Given the description of an element on the screen output the (x, y) to click on. 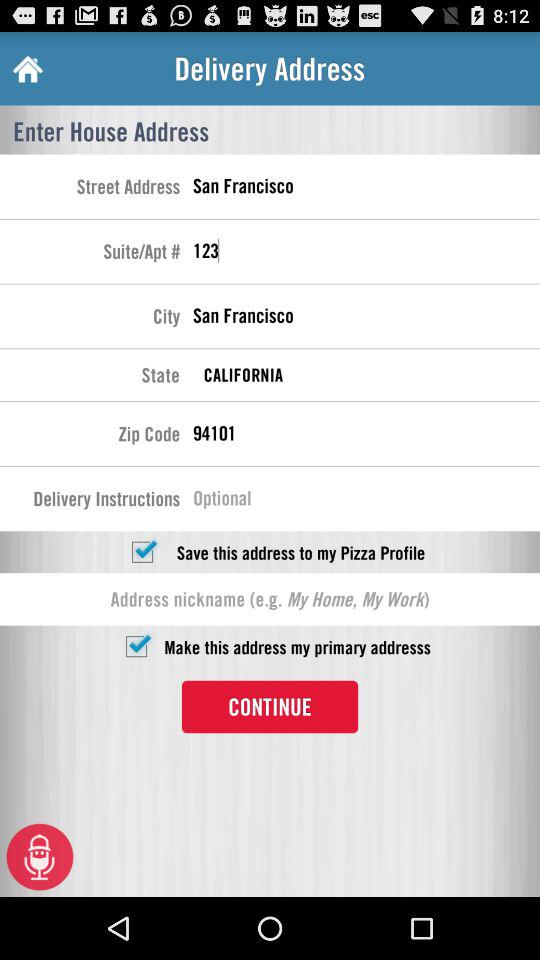
delivery instruction option (366, 501)
